Given the description of an element on the screen output the (x, y) to click on. 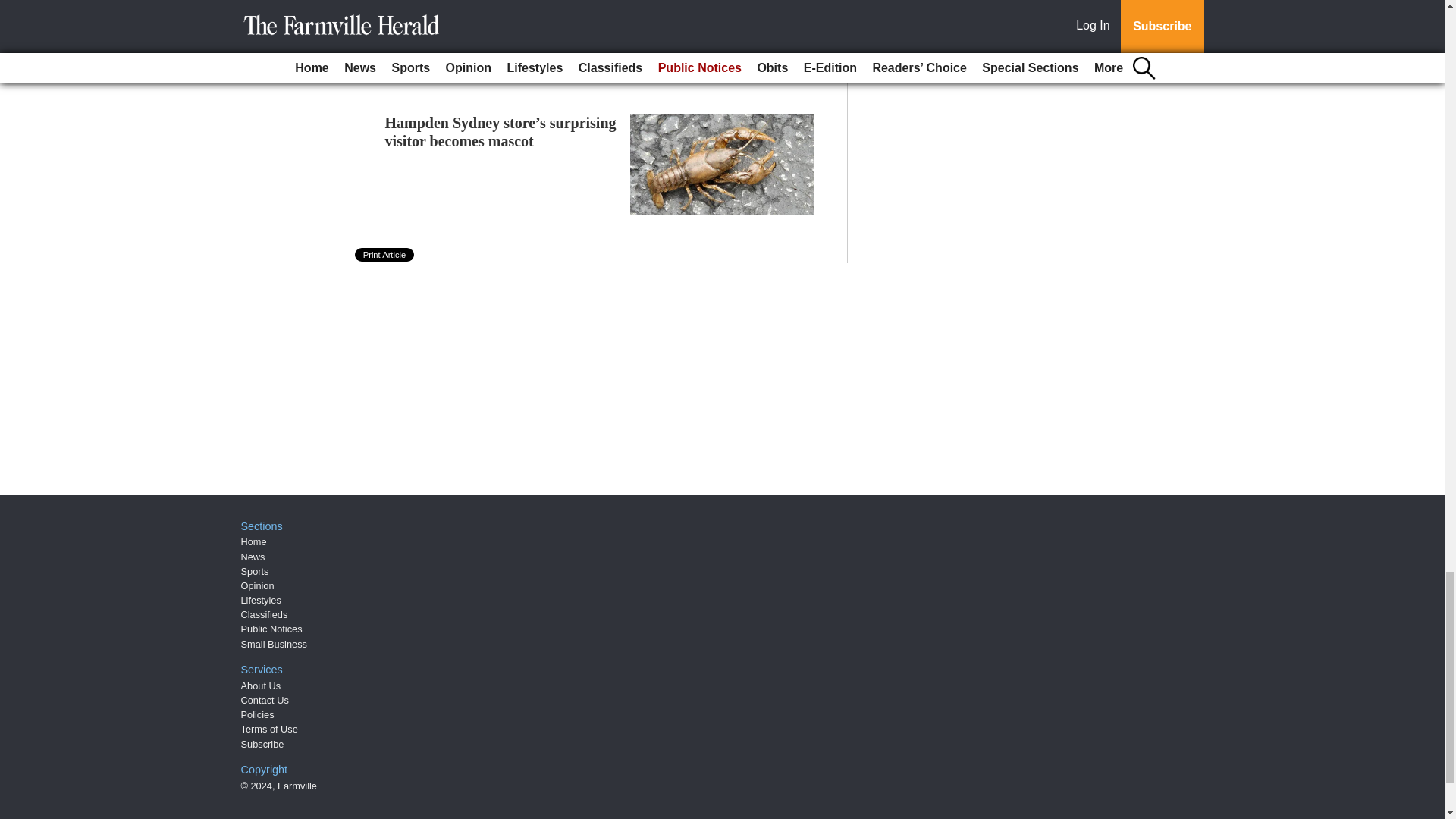
Print Article (384, 254)
